Given the description of an element on the screen output the (x, y) to click on. 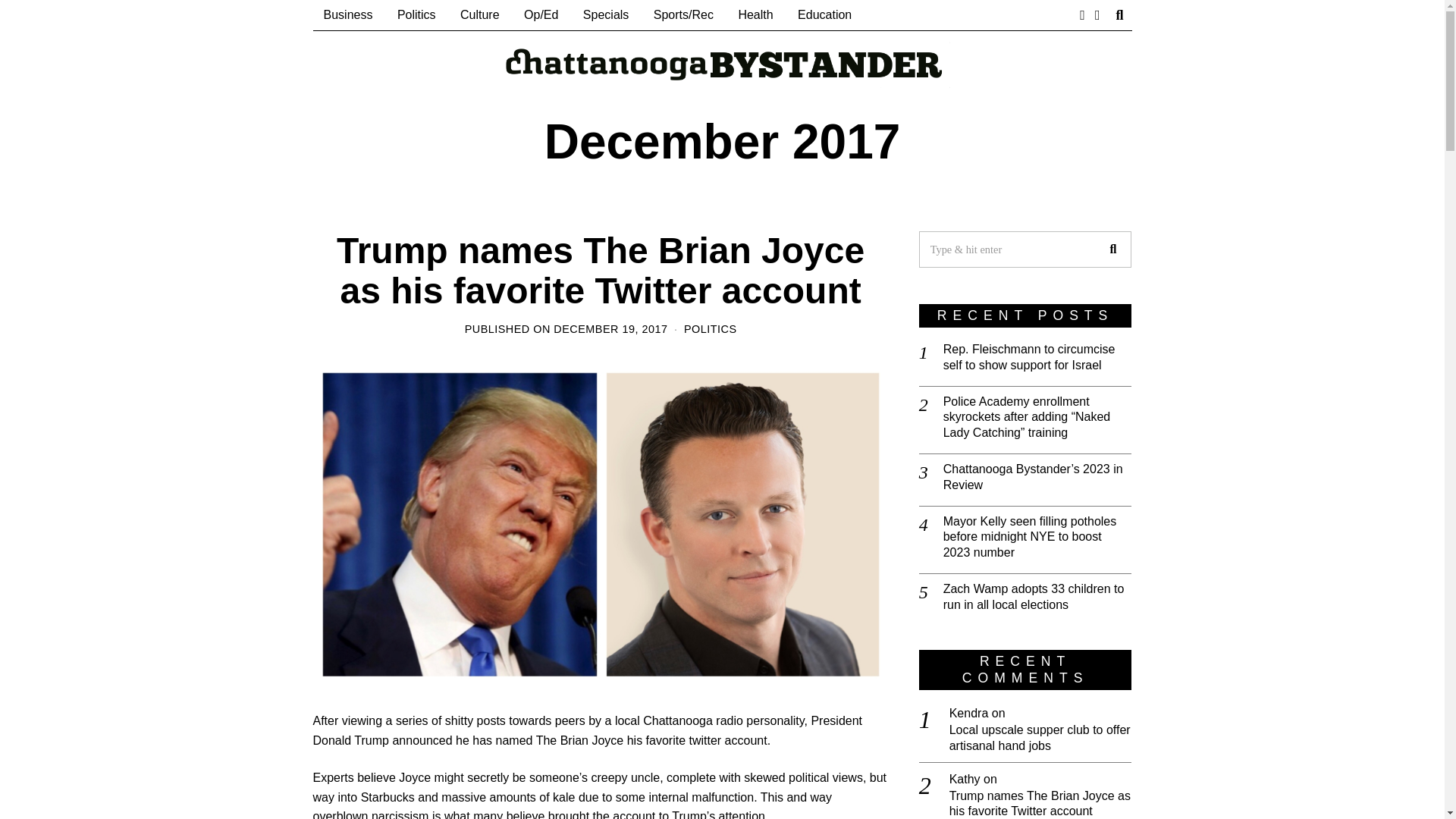
Go (1112, 248)
Local upscale supper club to offer artisanal hand jobs (1040, 738)
Trump names The Brian Joyce as his favorite Twitter account (600, 270)
Education (824, 15)
Culture (480, 15)
Business (347, 15)
Zach Wamp adopts 33 children to run in all local elections (1037, 597)
Specials (605, 15)
Health (754, 15)
POLITICS (710, 328)
Trump names The Brian Joyce as his favorite Twitter account (1040, 803)
Politics (416, 15)
